Given the description of an element on the screen output the (x, y) to click on. 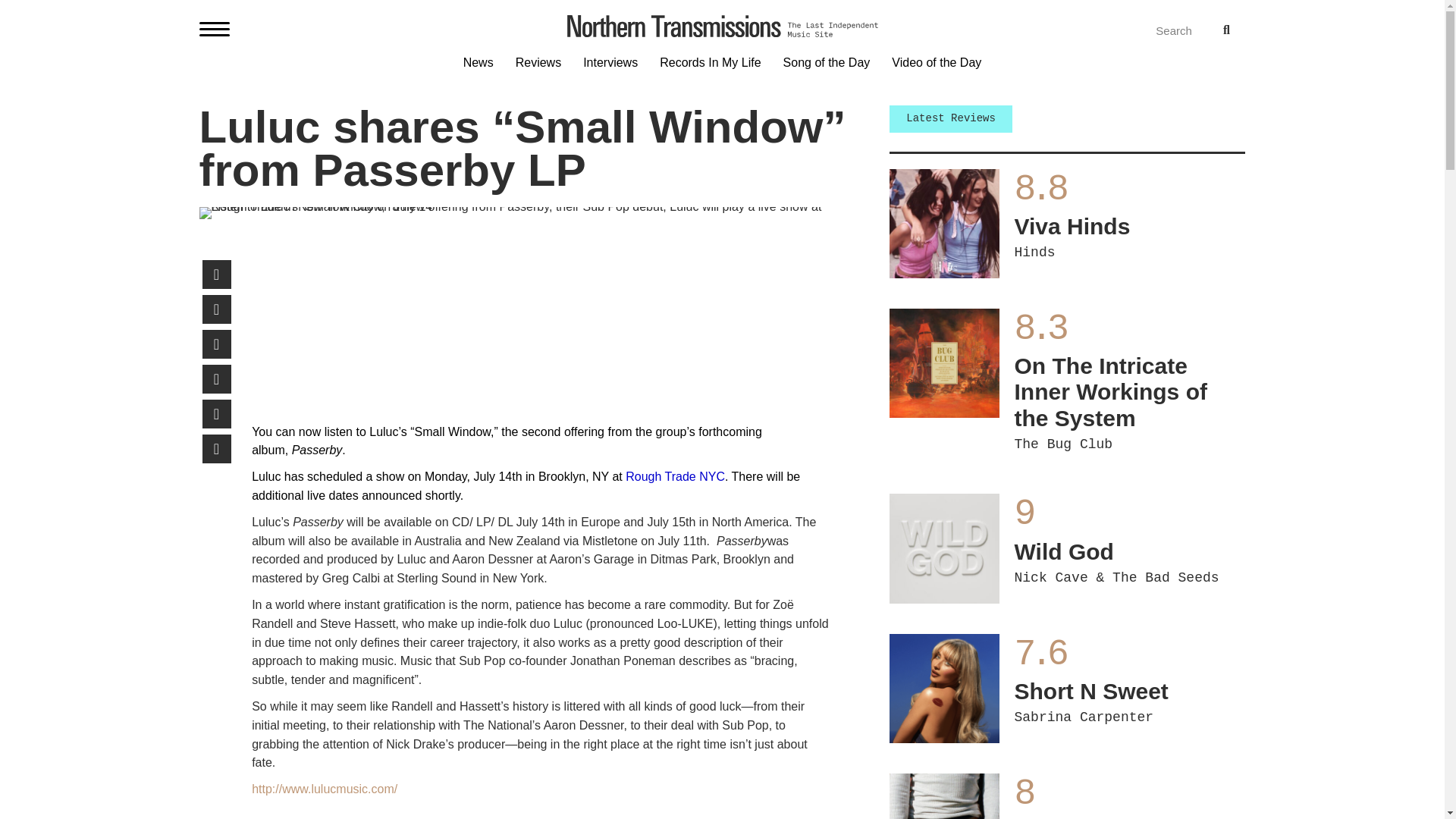
Luluc share "Small Window" (1130, 681)
Records In My Life (528, 213)
Share on Pocket (710, 66)
Share on Reddit (215, 343)
Share on Email (215, 378)
Search (215, 448)
Share on Pinterest (1148, 30)
News (215, 308)
Share on Facebook (477, 66)
